Given the description of an element on the screen output the (x, y) to click on. 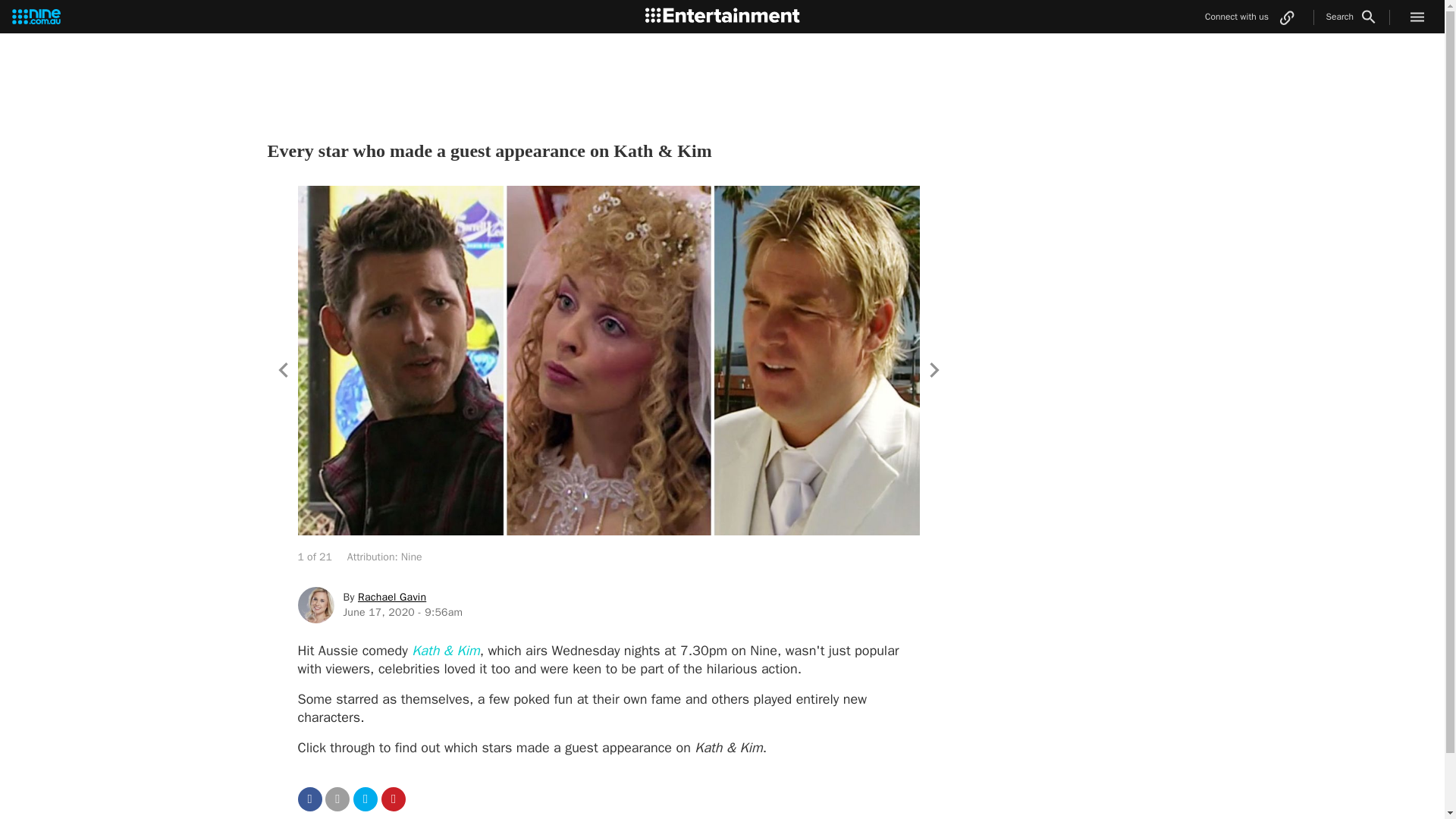
Rachael Gavin (392, 596)
